Given the description of an element on the screen output the (x, y) to click on. 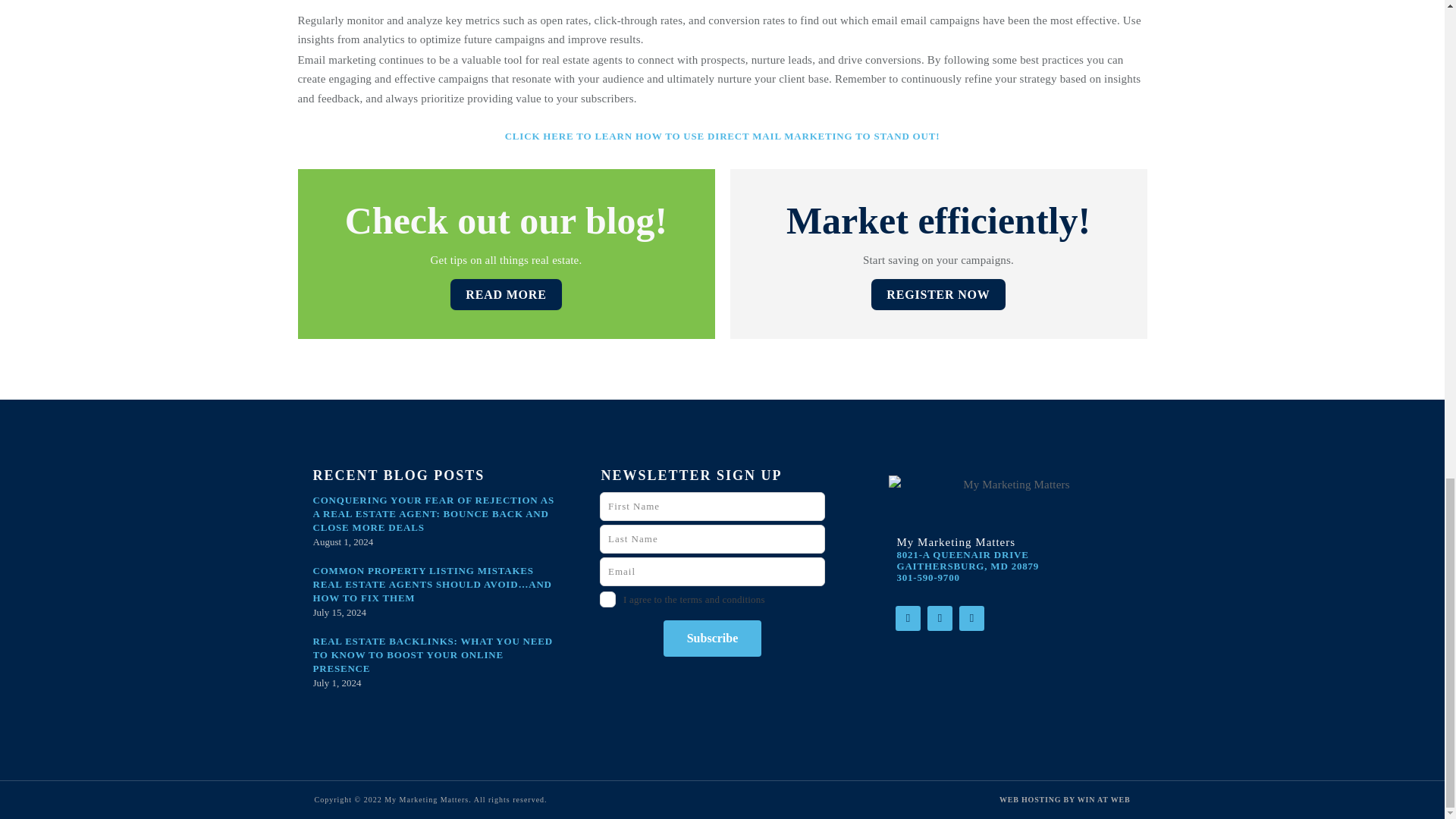
6 Reasons Direct Mail Marketing Helps You Stand Out (722, 135)
Subscribe (712, 637)
